Given the description of an element on the screen output the (x, y) to click on. 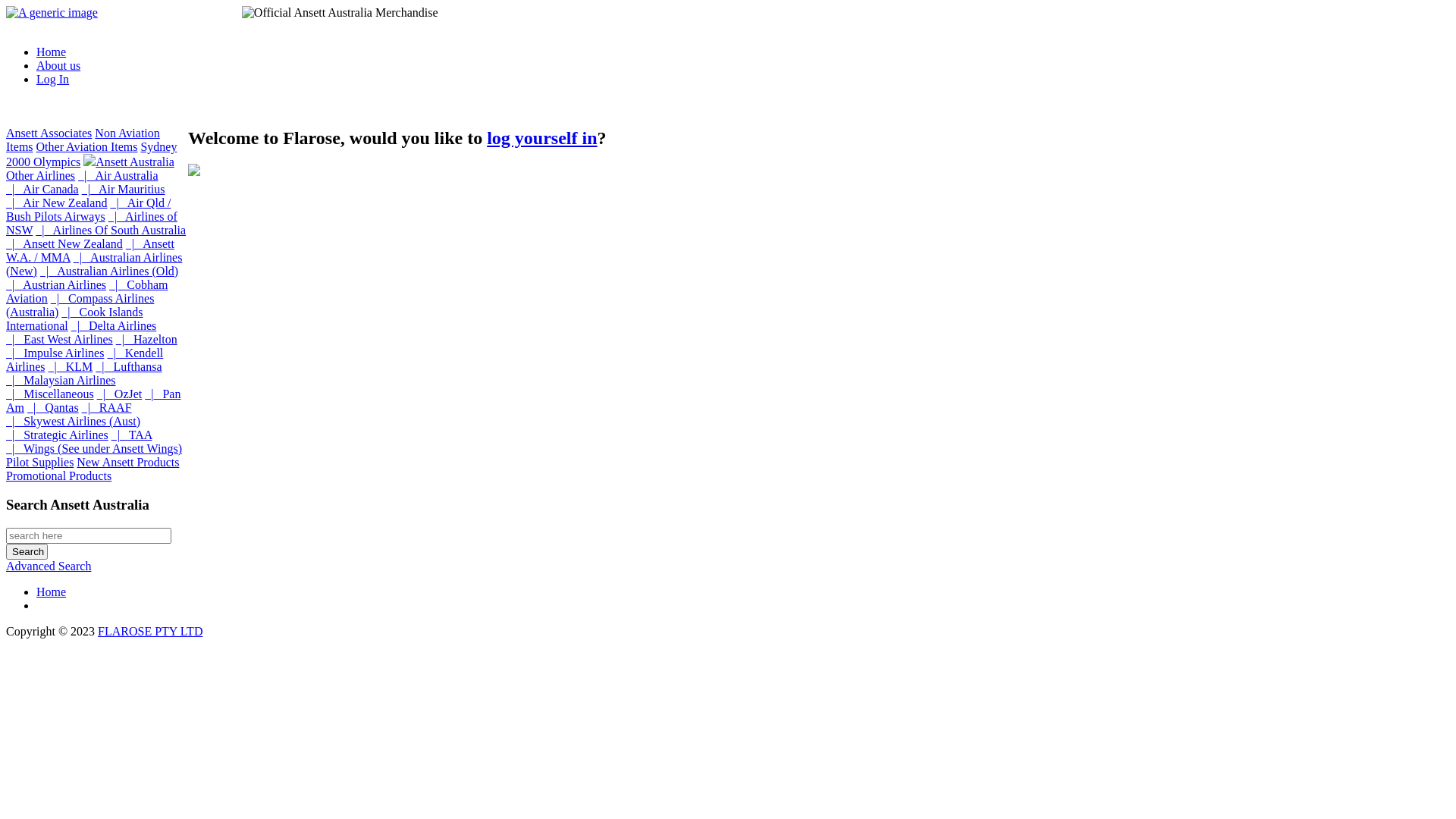
Home Element type: text (50, 591)
  |_ Austrian Airlines Element type: text (56, 284)
  |_ Air New Zealand Element type: text (56, 202)
About us Element type: text (58, 65)
Ansett Australia Element type: text (128, 161)
  |_ Delta Airlines Element type: text (113, 325)
Log In Element type: text (52, 78)
  |_ Strategic Airlines Element type: text (57, 434)
Other Airlines Element type: text (40, 175)
  |_ Australian Airlines (Old) Element type: text (109, 270)
  |_ OzJet Element type: text (119, 393)
  |_ Lufthansa Element type: text (128, 366)
Other Aviation Items Element type: text (87, 146)
log yourself in Element type: text (541, 137)
  |_ Kendell Airlines Element type: text (84, 359)
Promotional Products Element type: text (58, 475)
  |_ East West Airlines Element type: text (59, 338)
Non Aviation Items Element type: text (83, 139)
  |_ Air Australia Element type: text (117, 175)
  |_ Cook Islands International Element type: text (74, 318)
  |_ Hazelton Element type: text (146, 338)
  |_ Impulse Airlines Element type: text (54, 352)
  |_ Australian Airlines (New) Element type: text (94, 264)
  |_ Pan Am Element type: text (93, 400)
New Ansett Products Element type: text (127, 461)
  |_ Ansett New Zealand Element type: text (64, 243)
  |_ RAAF Element type: text (106, 407)
  |_ Air Qld / Bush Pilots Airways Element type: text (88, 209)
  |_ Air Canada Element type: text (42, 188)
  |_ Cobham Aviation Element type: text (87, 291)
  |_ Skywest Airlines (Aust) Element type: text (73, 420)
  |_ Miscellaneous Element type: text (50, 393)
Home Element type: text (50, 51)
Pilot Supplies Element type: text (39, 461)
  |_ Malaysian Airlines Element type: text (61, 379)
  |_ TAA Element type: text (131, 434)
  |_ Compass Airlines (Australia) Element type: text (79, 304)
Sydney 2000 Olympics Element type: text (91, 154)
Search Element type: text (26, 551)
  |_ Airlines of NSW Element type: text (91, 223)
FLAROSE PTY LTD Element type: text (149, 630)
  |_ Ansett W.A. / MMA Element type: text (90, 250)
  |_ Wings (See under Ansett Wings) Element type: text (94, 448)
  |_ KLM Element type: text (70, 366)
  |_ Airlines Of South Australia Element type: text (110, 229)
Ansett Associates Element type: text (48, 132)
Advanced Search Element type: text (48, 565)
  |_ Air Mauritius Element type: text (123, 188)
  |_ Qantas Element type: text (52, 407)
